Given the description of an element on the screen output the (x, y) to click on. 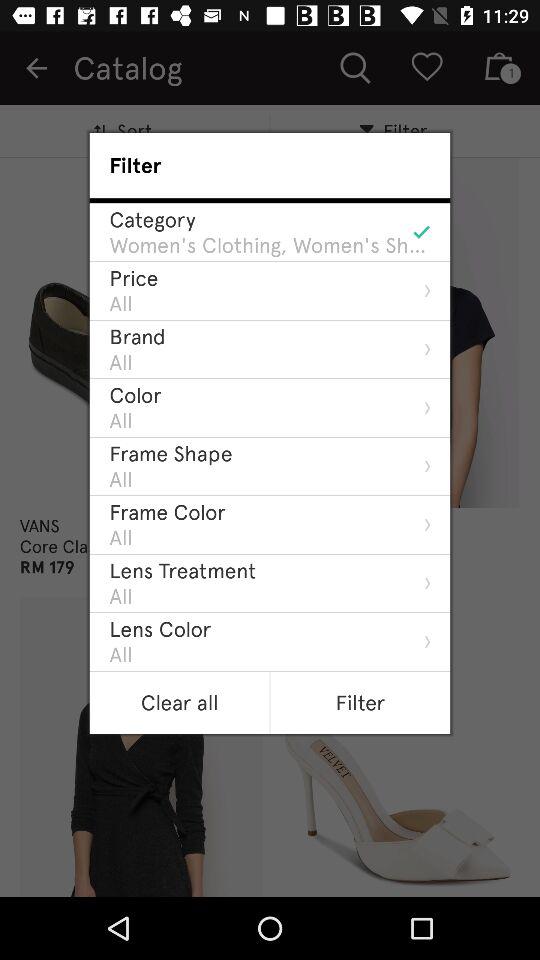
turn on brand icon (137, 336)
